Given the description of an element on the screen output the (x, y) to click on. 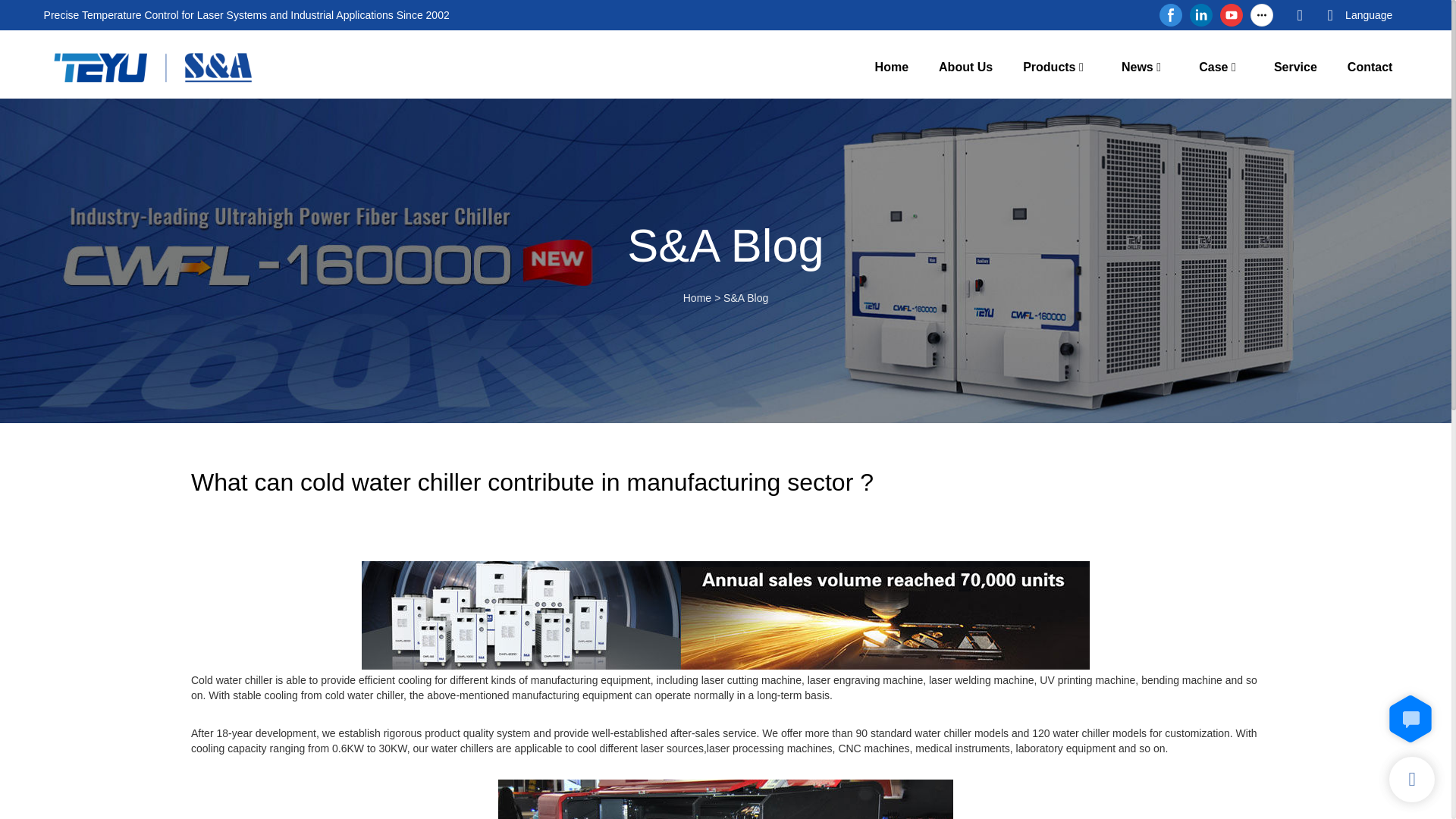
cold water chiller (725, 799)
Home (891, 66)
Case (1212, 66)
cold water chiller (725, 615)
youtube (1230, 15)
facebook (1171, 15)
Home (696, 297)
Contact (1370, 66)
linkedin (1200, 15)
News (1137, 66)
About Us (965, 66)
Service (1295, 66)
Products (1049, 66)
